Given the description of an element on the screen output the (x, y) to click on. 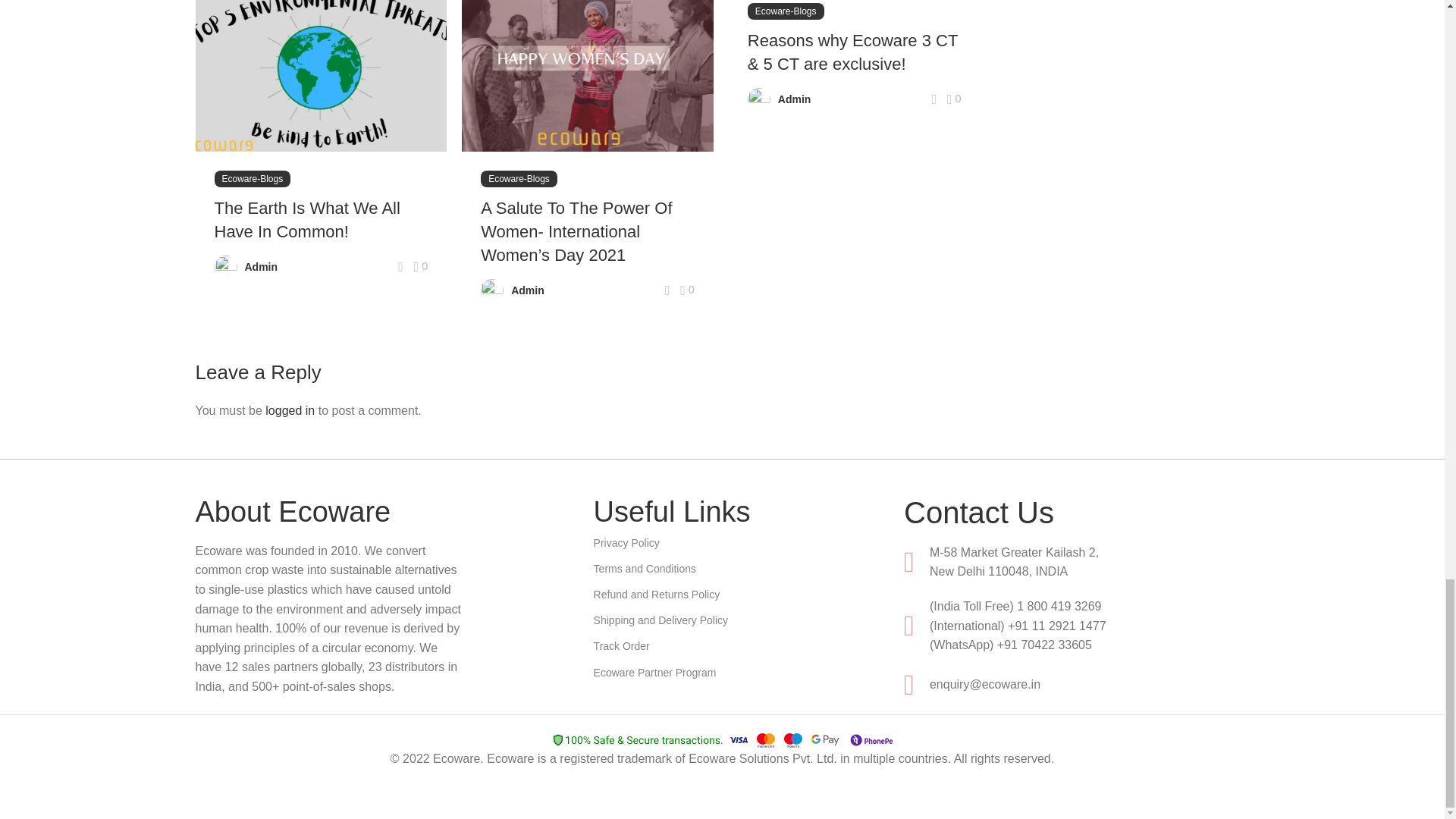
Comment on The Earth Is What We All Have In Common! (420, 266)
